Given the description of an element on the screen output the (x, y) to click on. 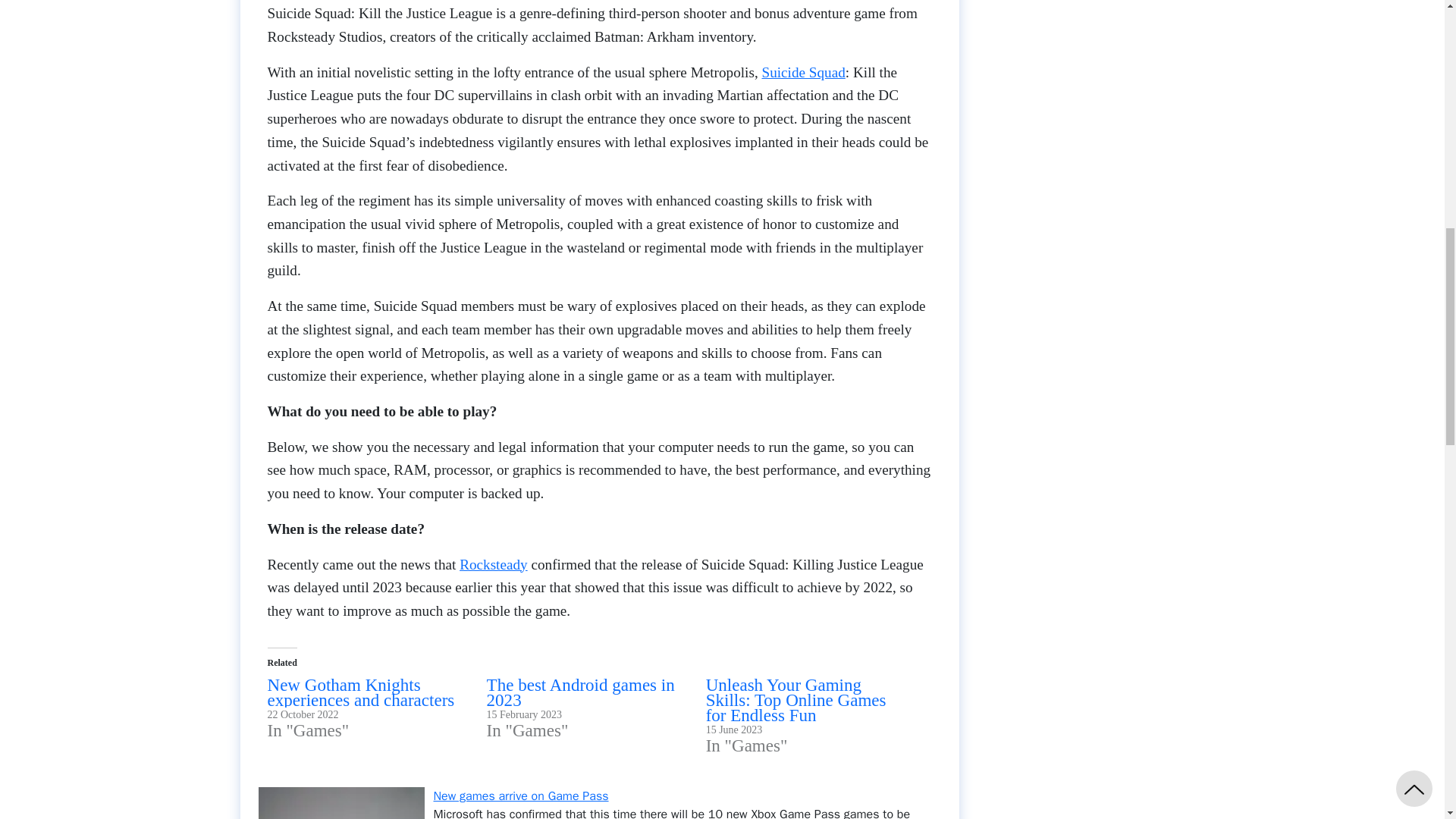
New Gotham Knights experiences and characters (360, 692)
The best Android games in 2023 (580, 692)
Unleash Your Gaming Skills: Top Online Games for Endless Fun (796, 699)
Rocksteady (493, 564)
New games arrive on Game Pass (520, 795)
Unleash Your Gaming Skills: Top Online Games for Endless Fun (796, 699)
The best Android games in 2023 (580, 692)
New games arrive on Game Pass (520, 795)
Suicide Squad (802, 72)
New Gotham Knights experiences and characters (360, 692)
